Given the description of an element on the screen output the (x, y) to click on. 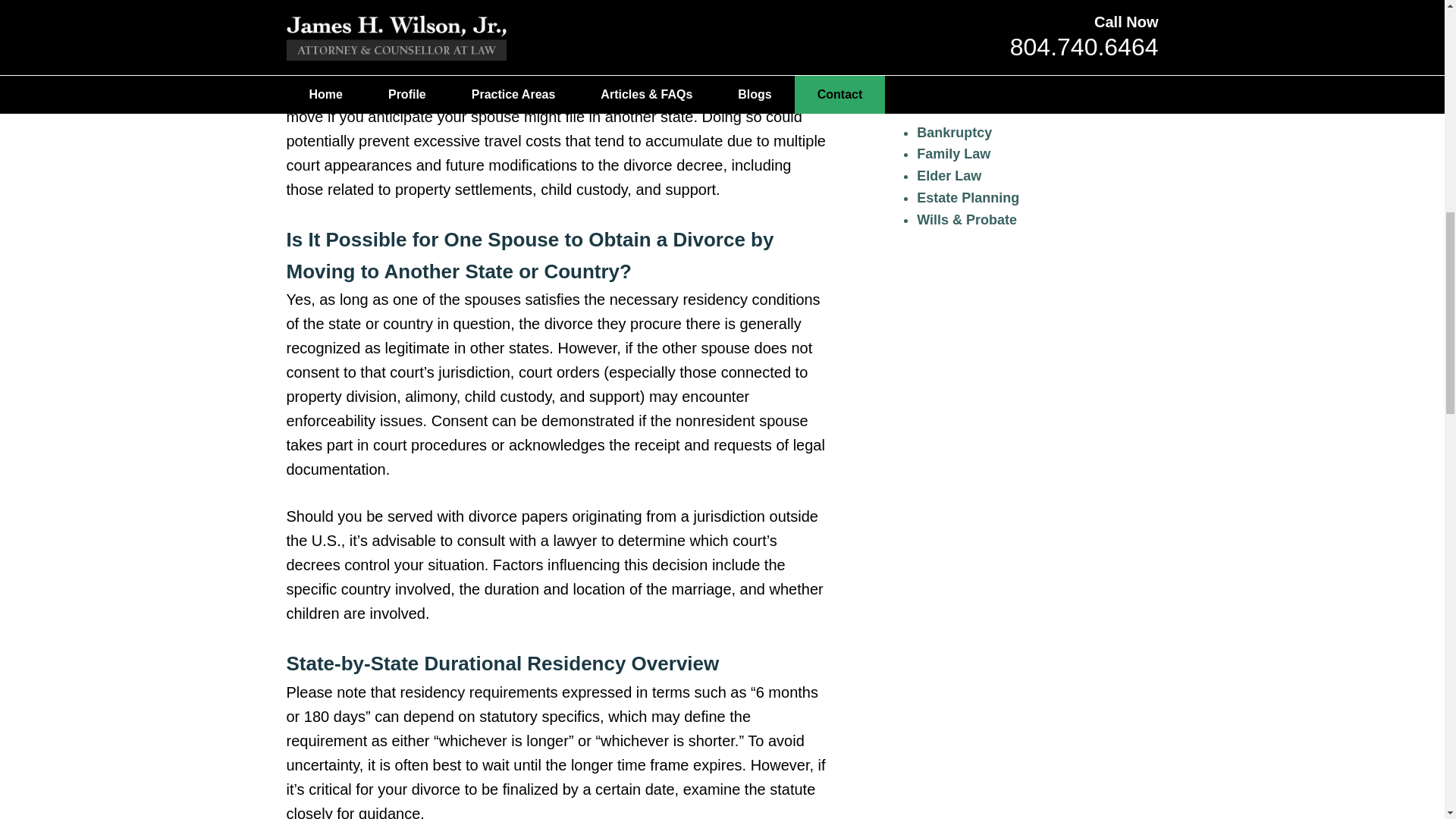
Bankruptcy (954, 132)
Contact Us Now (1012, 22)
Family Law (953, 153)
Elder Law (949, 175)
Estate Planning (968, 197)
